Given the description of an element on the screen output the (x, y) to click on. 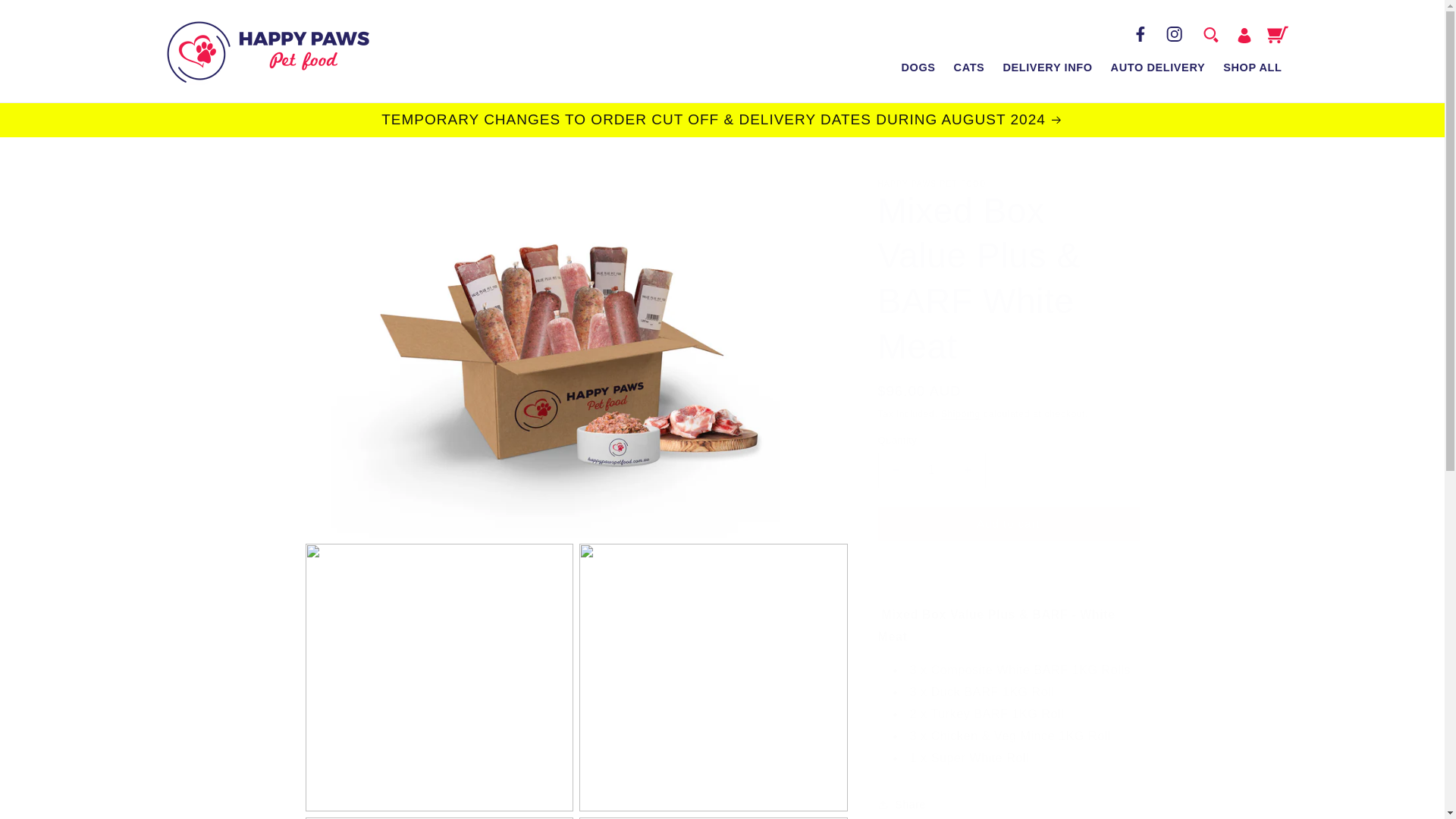
DELIVERY INFO (1046, 67)
Add to cart (1008, 523)
Shipping (959, 413)
AUTO DELIVERY (1158, 67)
CATS (969, 67)
SHOP ALL (1252, 67)
Cart (1277, 34)
1 (931, 470)
